Given the description of an element on the screen output the (x, y) to click on. 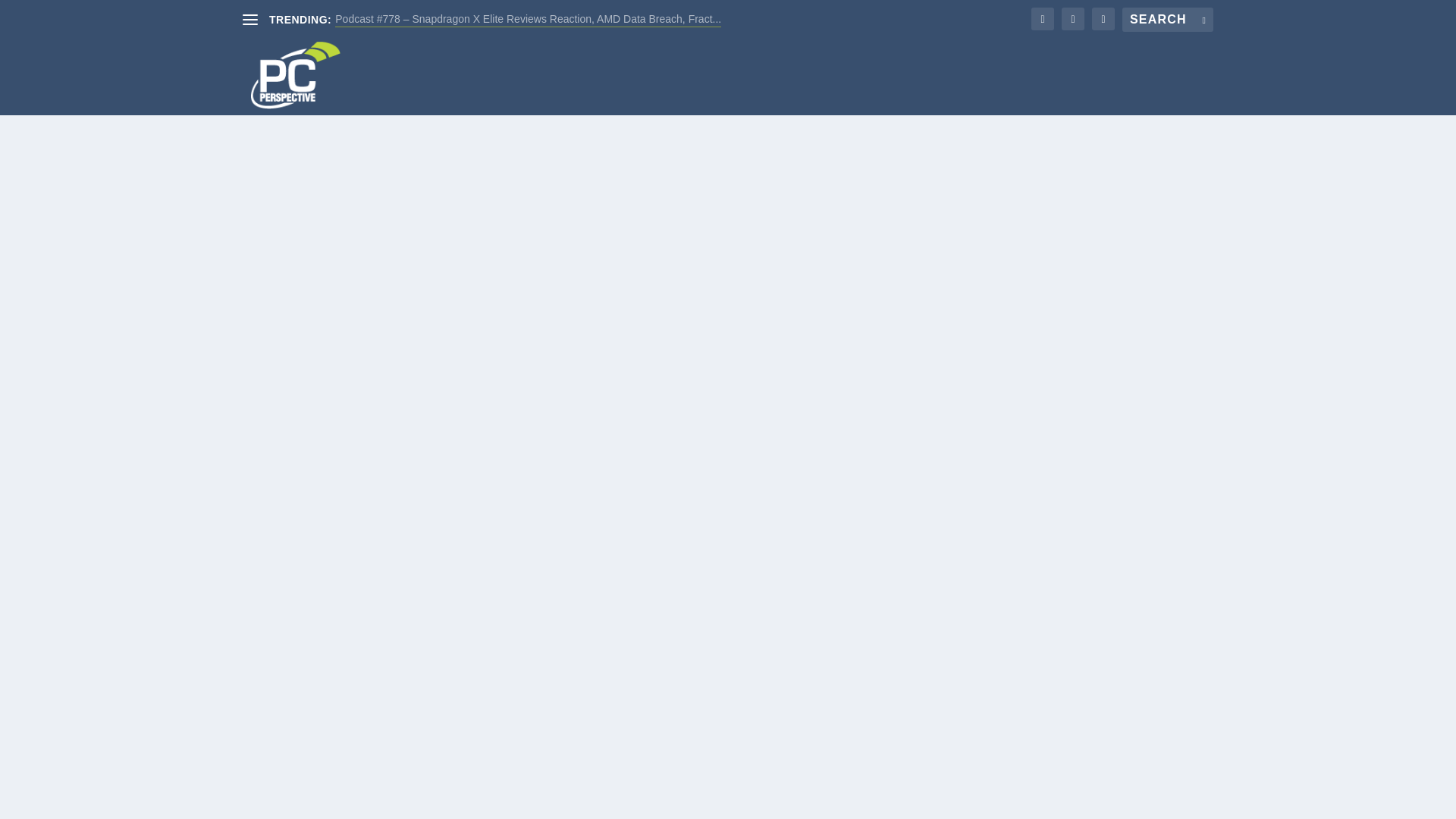
Search for: (1167, 19)
